Given the description of an element on the screen output the (x, y) to click on. 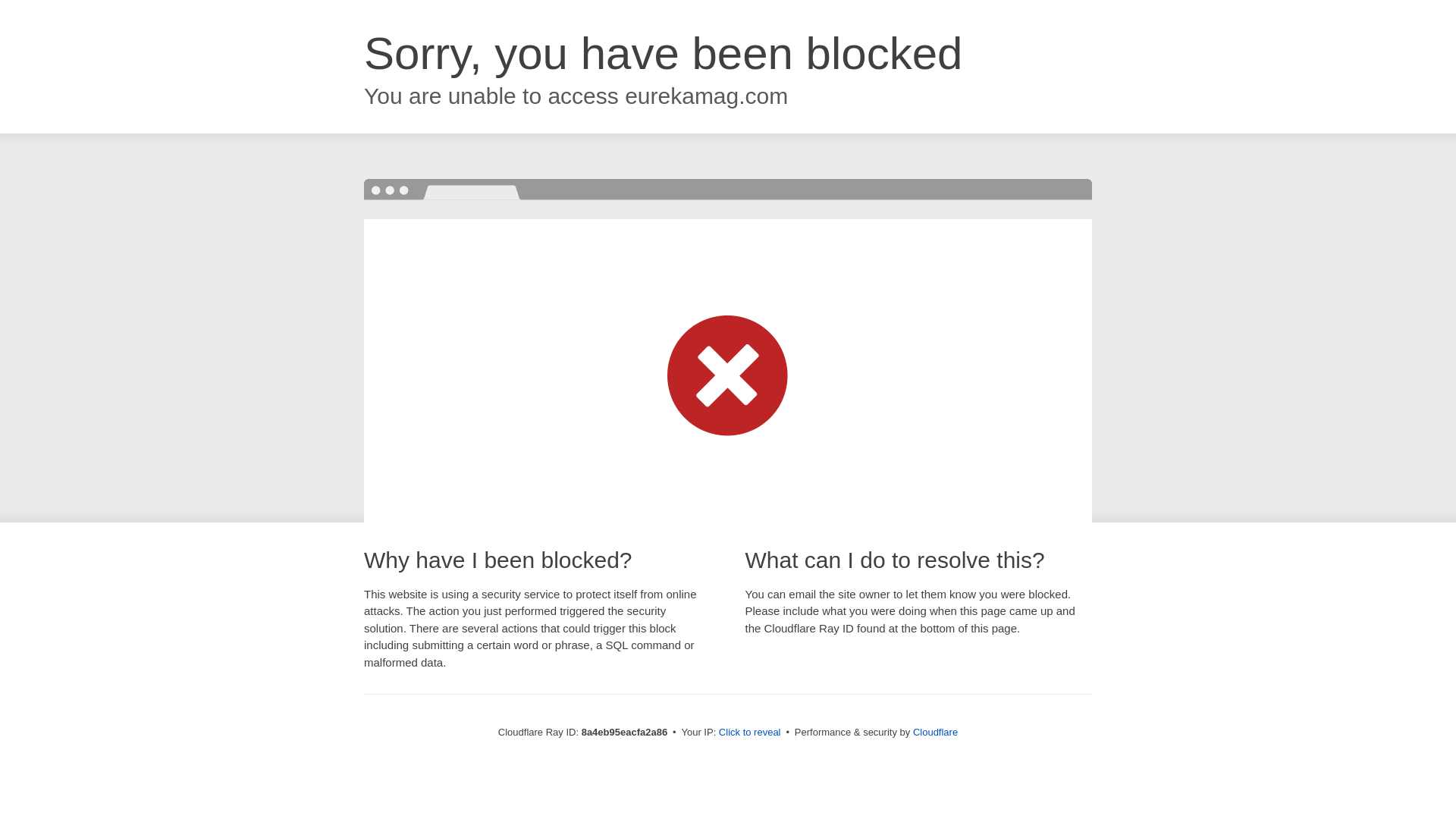
Cloudflare (935, 731)
Click to reveal (749, 732)
